Given the description of an element on the screen output the (x, y) to click on. 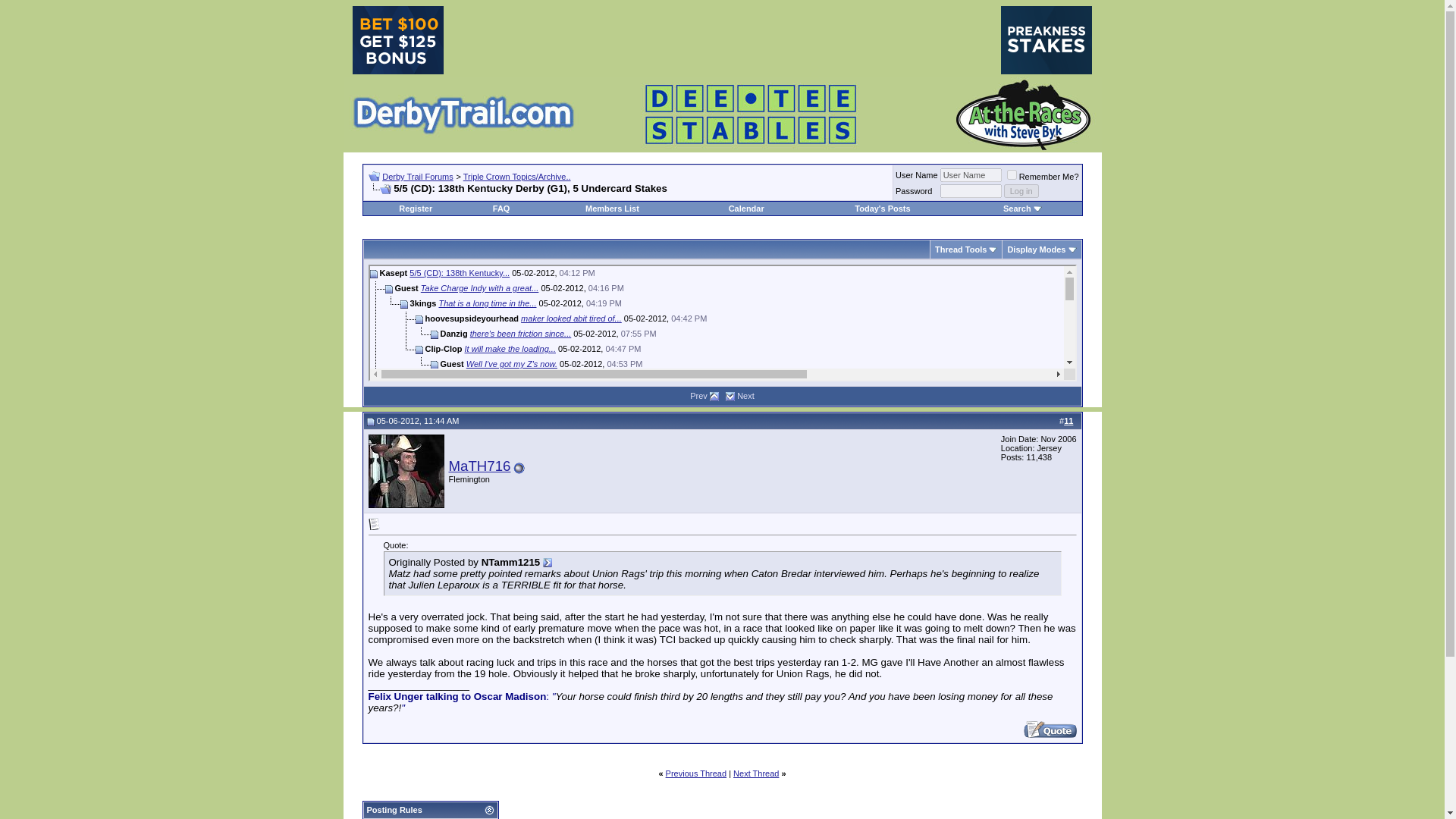
What a field for the... (624, 545)
I do too, but little mike... (611, 439)
MaTH716 is offline (518, 468)
Calendar (746, 207)
Joe, I gotta use Slim Shadey... (607, 500)
He's out of his league IMO. (632, 530)
Well I've got my Z's now. (511, 363)
Members List (612, 207)
If anyone is interested, my... (667, 560)
Reload this Page (379, 188)
FAQ (502, 207)
Where's your pick? (686, 575)
Previous Post (714, 396)
Register (415, 207)
User Name (970, 174)
